Given the description of an element on the screen output the (x, y) to click on. 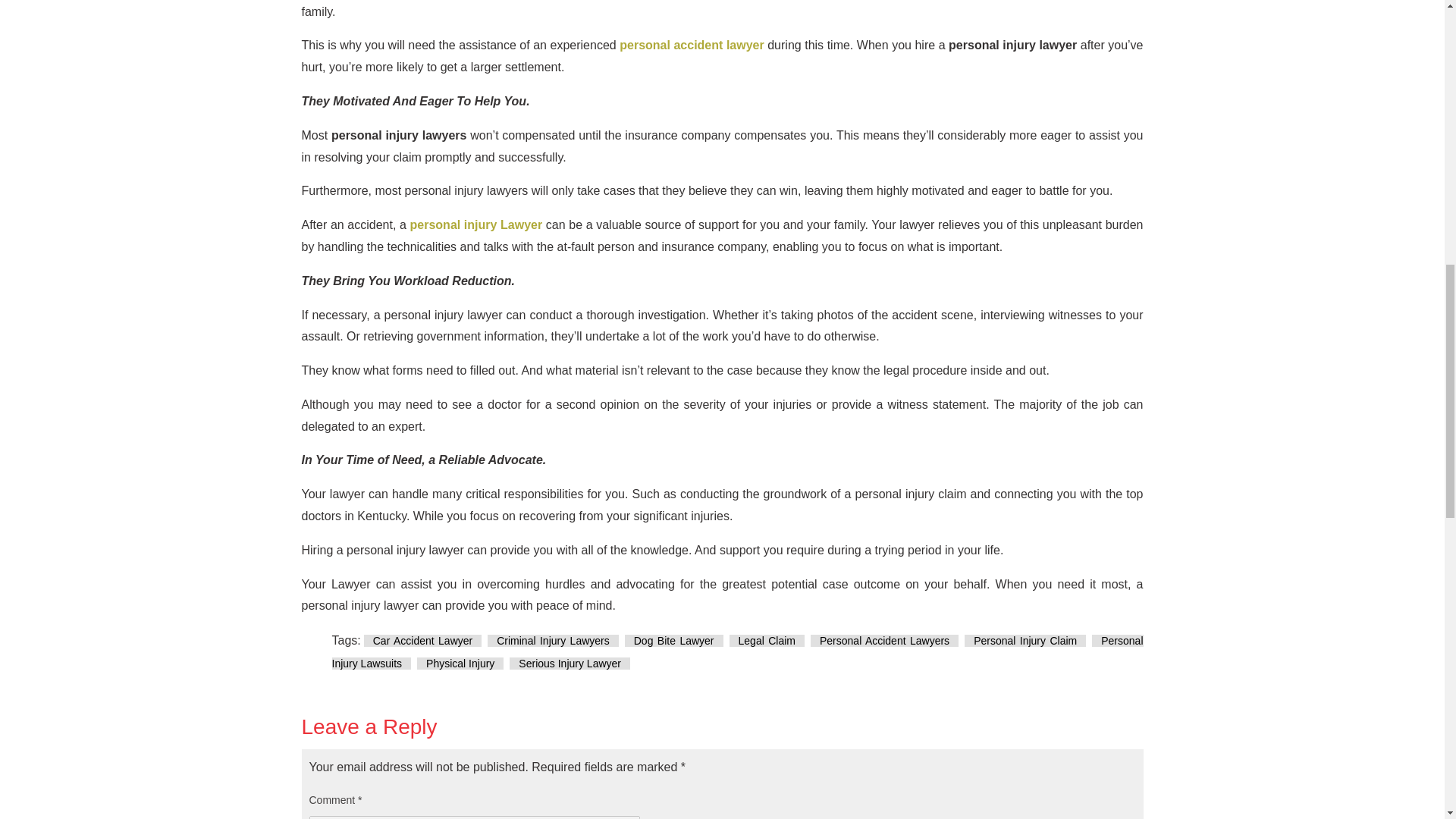
Car Accident Lawyer Tag (422, 640)
Personal Accident Lawyers Tag (884, 640)
Serious Injury Lawyer Tag (569, 663)
Personal Injury Claim Tag (1024, 640)
Dog Bite Lawyer Tag (673, 640)
Legal Claim Tag (767, 640)
Physical Injury Tag (459, 663)
Criminal Injury Lawyers Tag (552, 640)
Personal Injury Lawsuits Tag (736, 651)
